Given the description of an element on the screen output the (x, y) to click on. 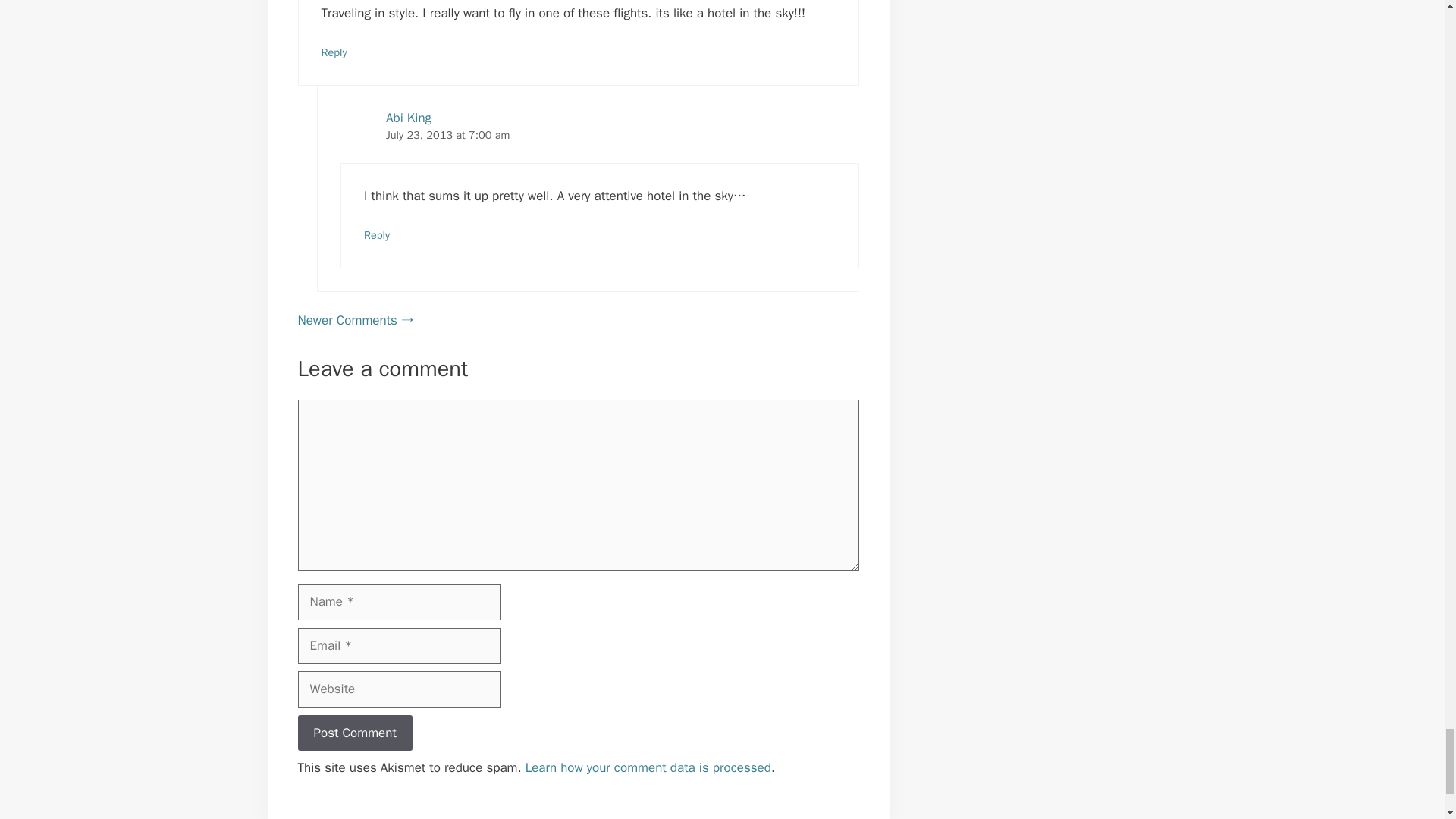
Post Comment (354, 732)
